Given the description of an element on the screen output the (x, y) to click on. 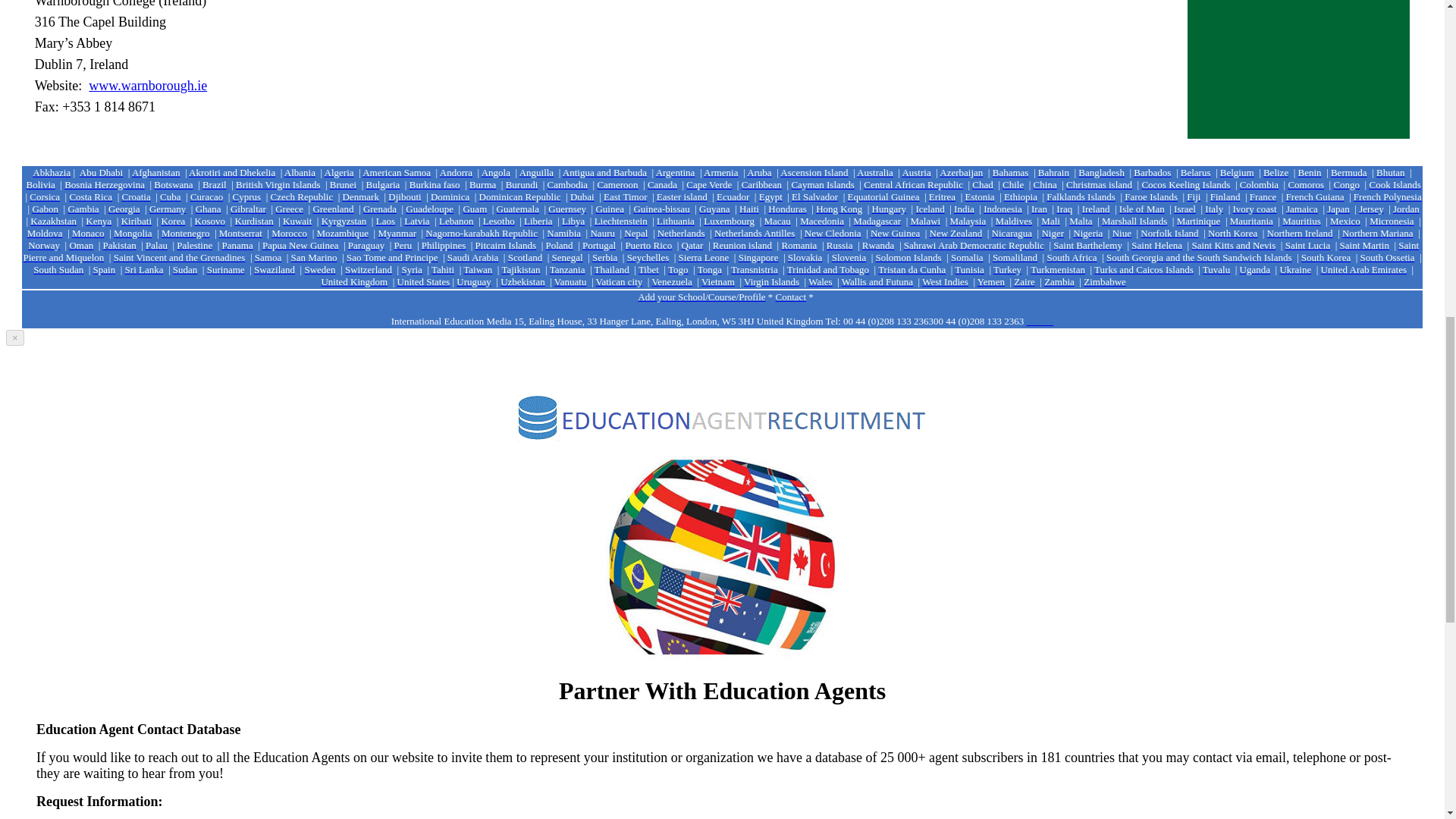
Anguilla (536, 171)
Angola (496, 171)
Afghanistan (156, 171)
Antigua and Barbuda (604, 171)
Australia (875, 171)
Andorra (455, 171)
Austria (915, 171)
Azerbaijan (960, 171)
Albania (299, 171)
Argentina (675, 171)
Bahamas (1010, 171)
Aruba (758, 171)
Ascension Island (813, 171)
Armenia (720, 171)
Abkhazia (50, 171)
